Given the description of an element on the screen output the (x, y) to click on. 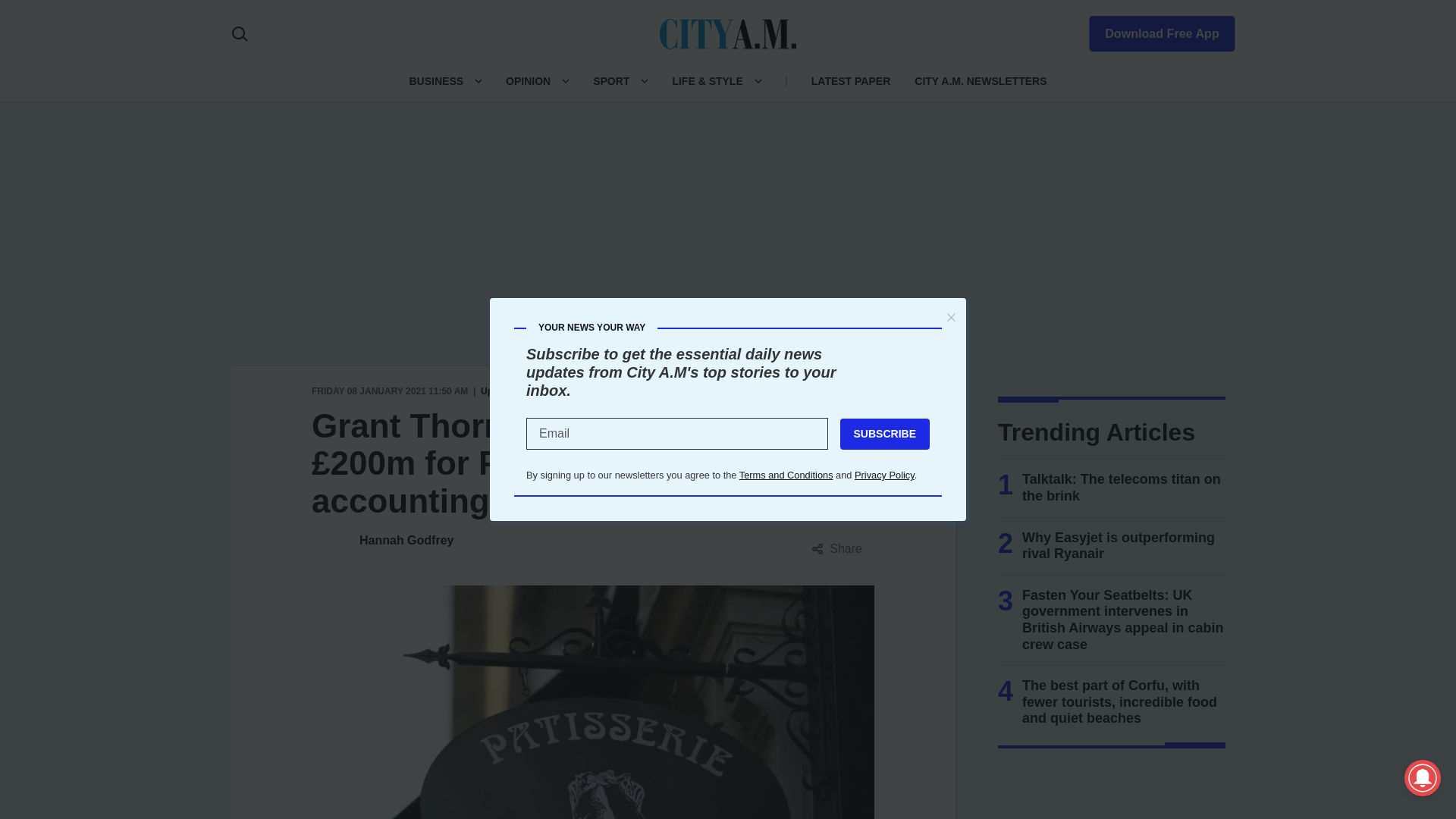
OPINION (527, 80)
SPORT (610, 80)
CityAM (727, 33)
BUSINESS (436, 80)
Download Free App (1152, 30)
